Given the description of an element on the screen output the (x, y) to click on. 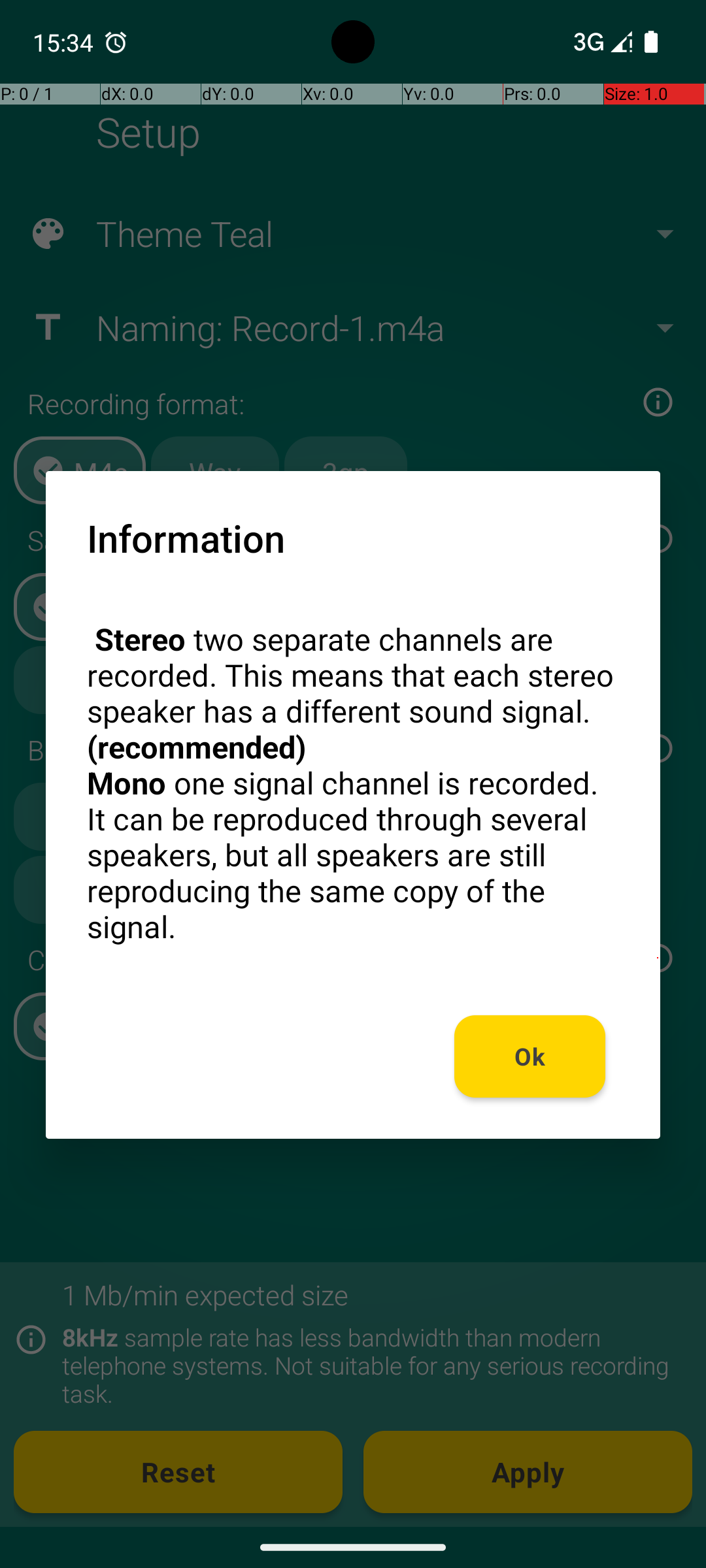
 Stereo two separate channels are recorded. This means that each stereo speaker has a different sound signal. (recommended) 
Mono one signal channel is recorded. It can be reproduced through several speakers, but all speakers are still reproducing the same copy of the signal.  Element type: android.widget.TextView (352, 782)
Clock notification: Missed alarm Element type: android.widget.ImageView (115, 41)
